Given the description of an element on the screen output the (x, y) to click on. 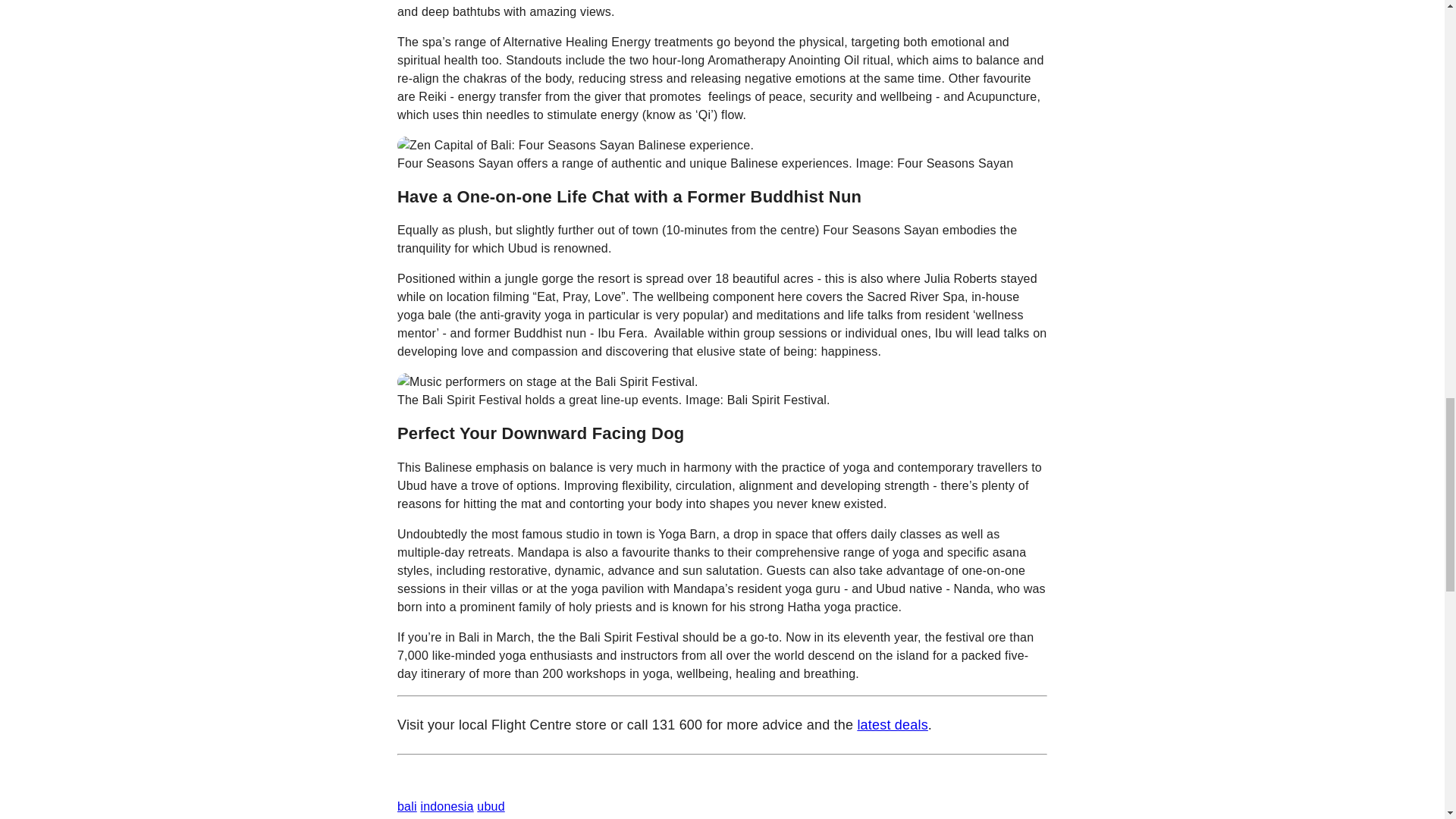
latest deals (892, 724)
indonesia (446, 806)
bali (406, 806)
